Given the description of an element on the screen output the (x, y) to click on. 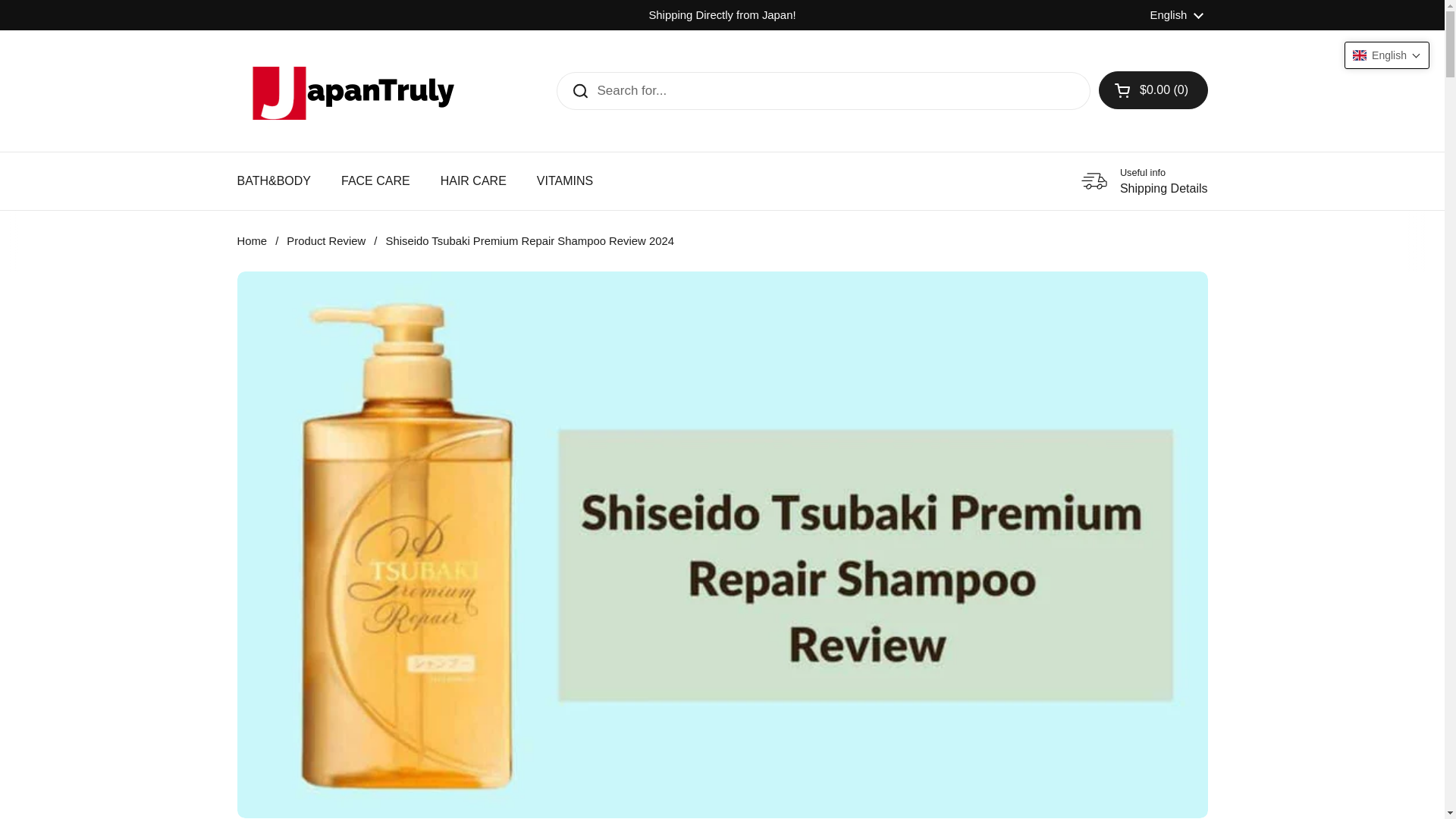
VITAMINS (564, 181)
Japan Truly (349, 90)
FACE CARE (375, 181)
Product Review (325, 241)
English (1177, 14)
FACE CARE (375, 181)
HAIR CARE (473, 181)
Open cart (1153, 89)
Home (250, 241)
VITAMINS (564, 181)
HAIR CARE (1144, 181)
